Given the description of an element on the screen output the (x, y) to click on. 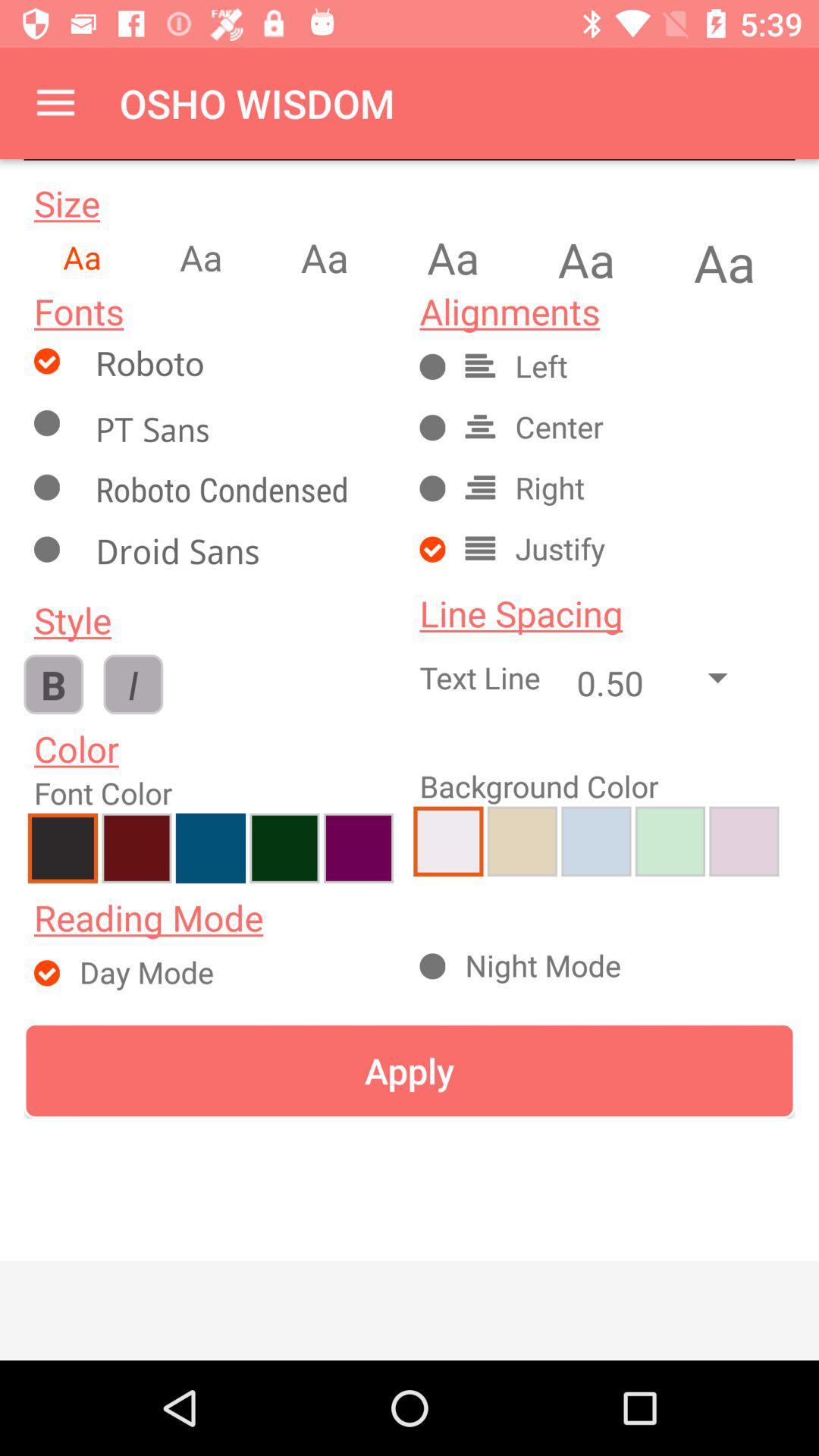
change color (136, 848)
